Given the description of an element on the screen output the (x, y) to click on. 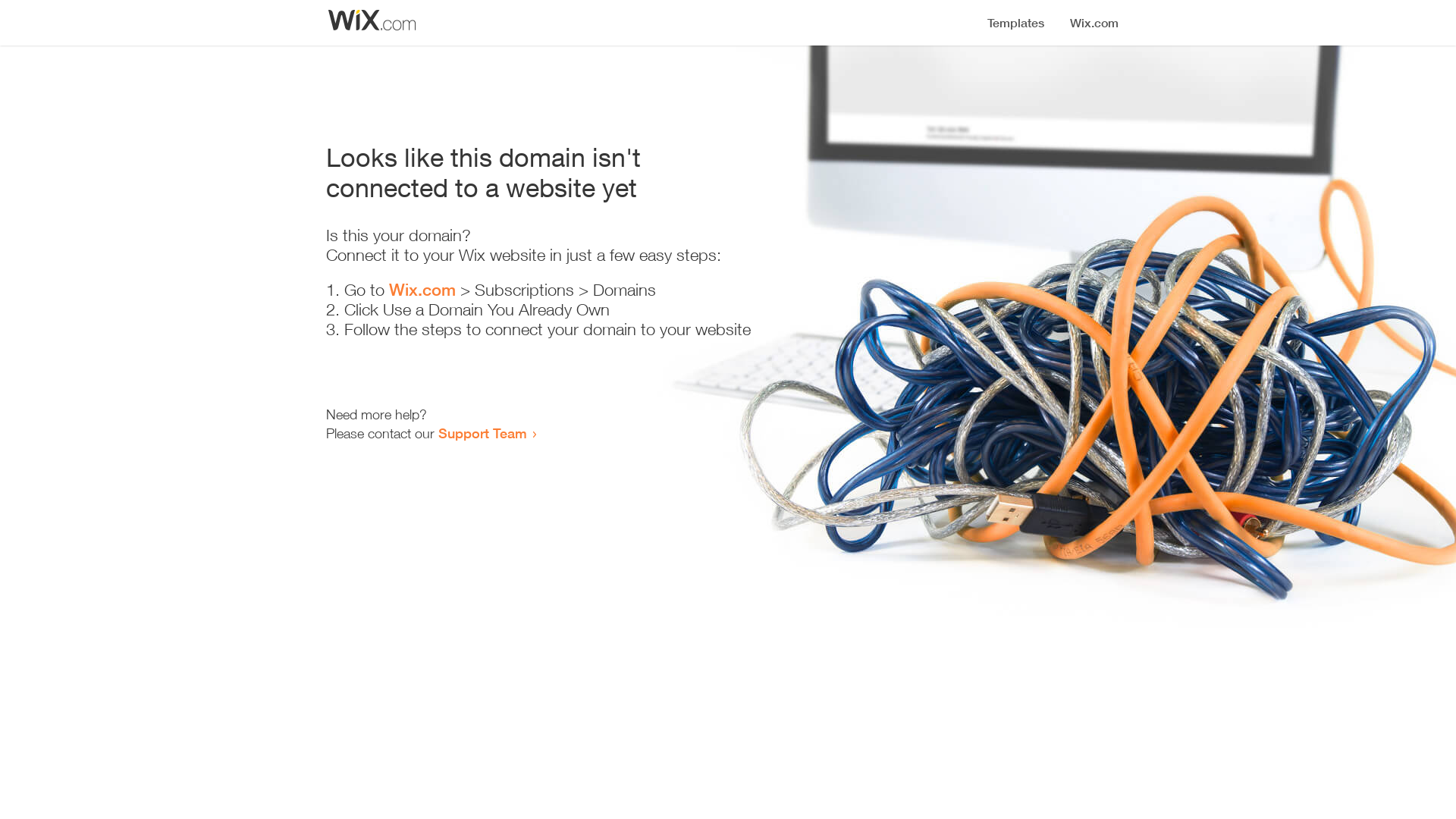
Wix.com Element type: text (422, 289)
Support Team Element type: text (482, 432)
